Given the description of an element on the screen output the (x, y) to click on. 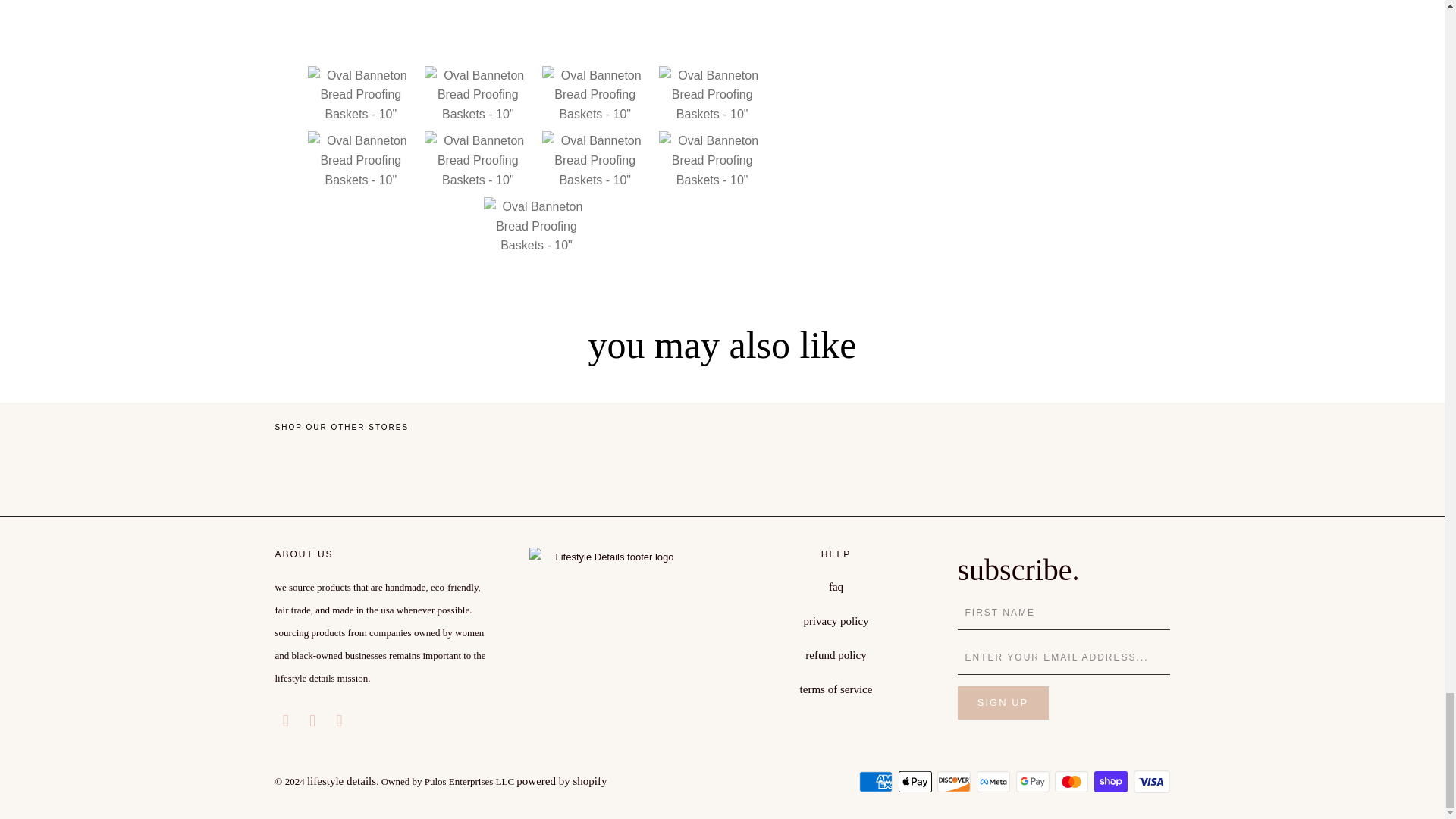
Mastercard (1072, 781)
Visa (1150, 781)
Lifestyle Details on Instagram (339, 720)
Lifestyle Details on Facebook (286, 720)
Shop Pay (1112, 781)
American Express (877, 781)
Sign Up (1002, 702)
Discover (955, 781)
Google Pay (1034, 781)
Lifestyle Details on Pinterest (312, 720)
